Given the description of an element on the screen output the (x, y) to click on. 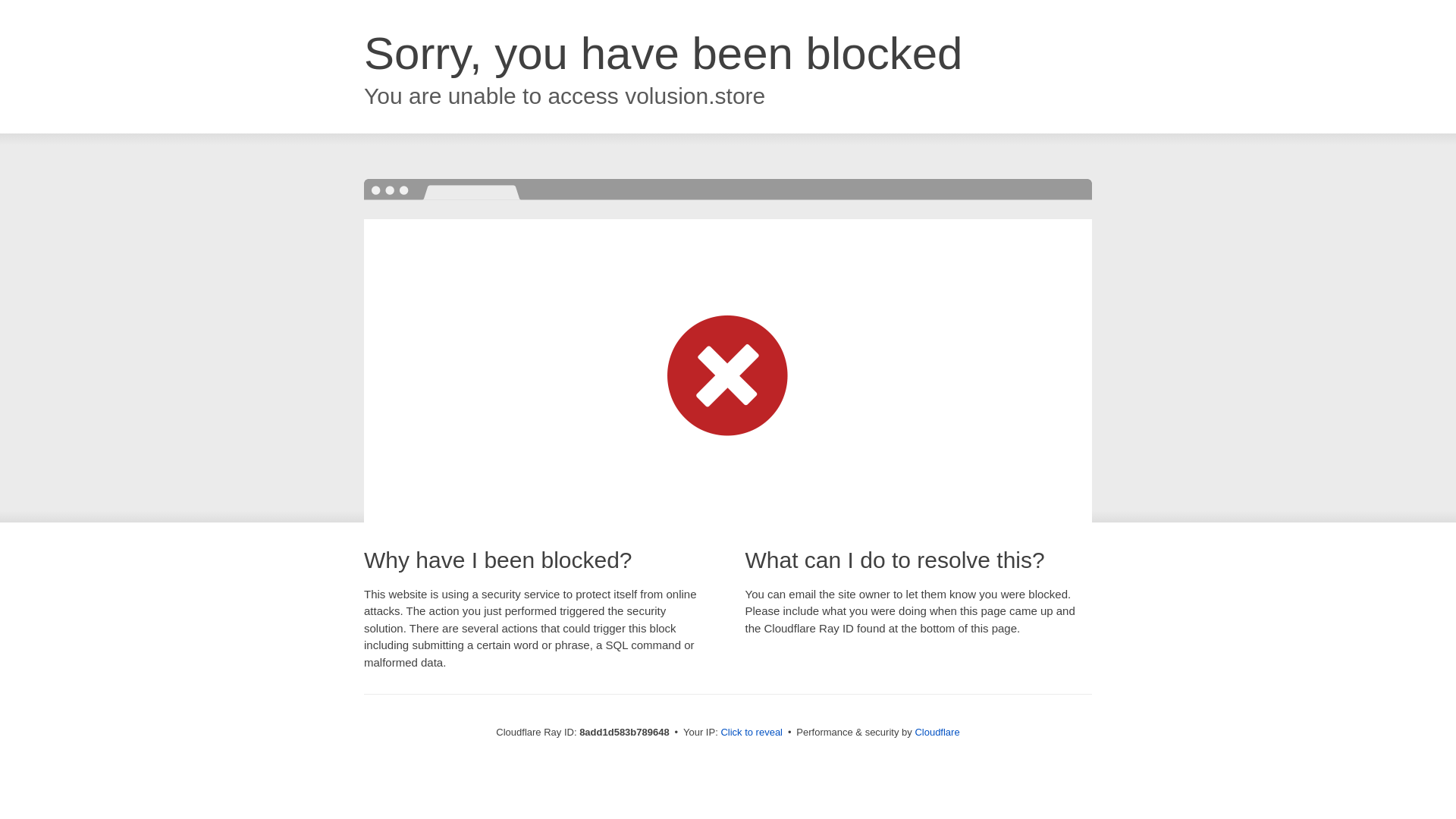
Click to reveal (751, 732)
Cloudflare (936, 731)
